Given the description of an element on the screen output the (x, y) to click on. 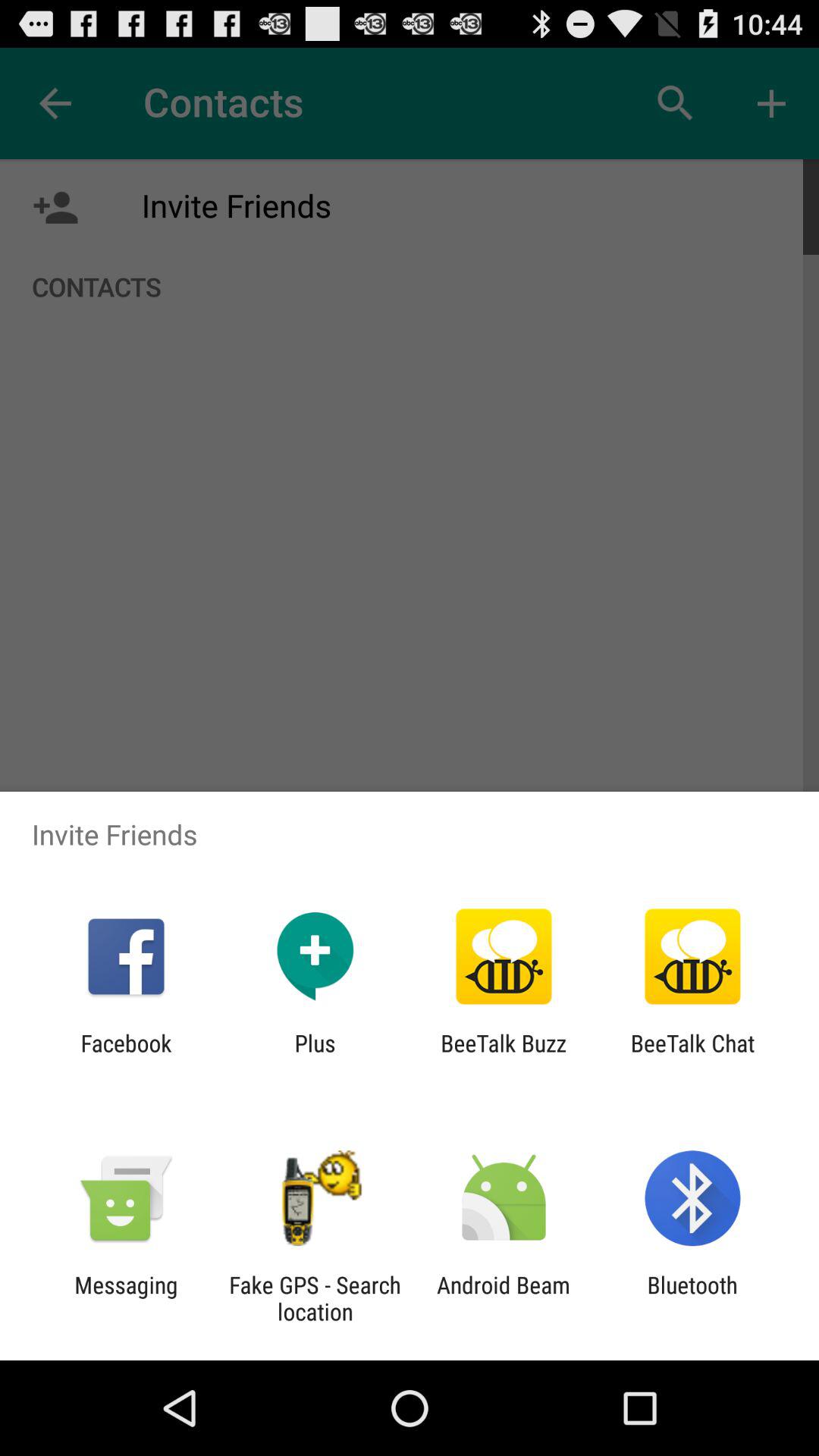
scroll to plus icon (314, 1056)
